Given the description of an element on the screen output the (x, y) to click on. 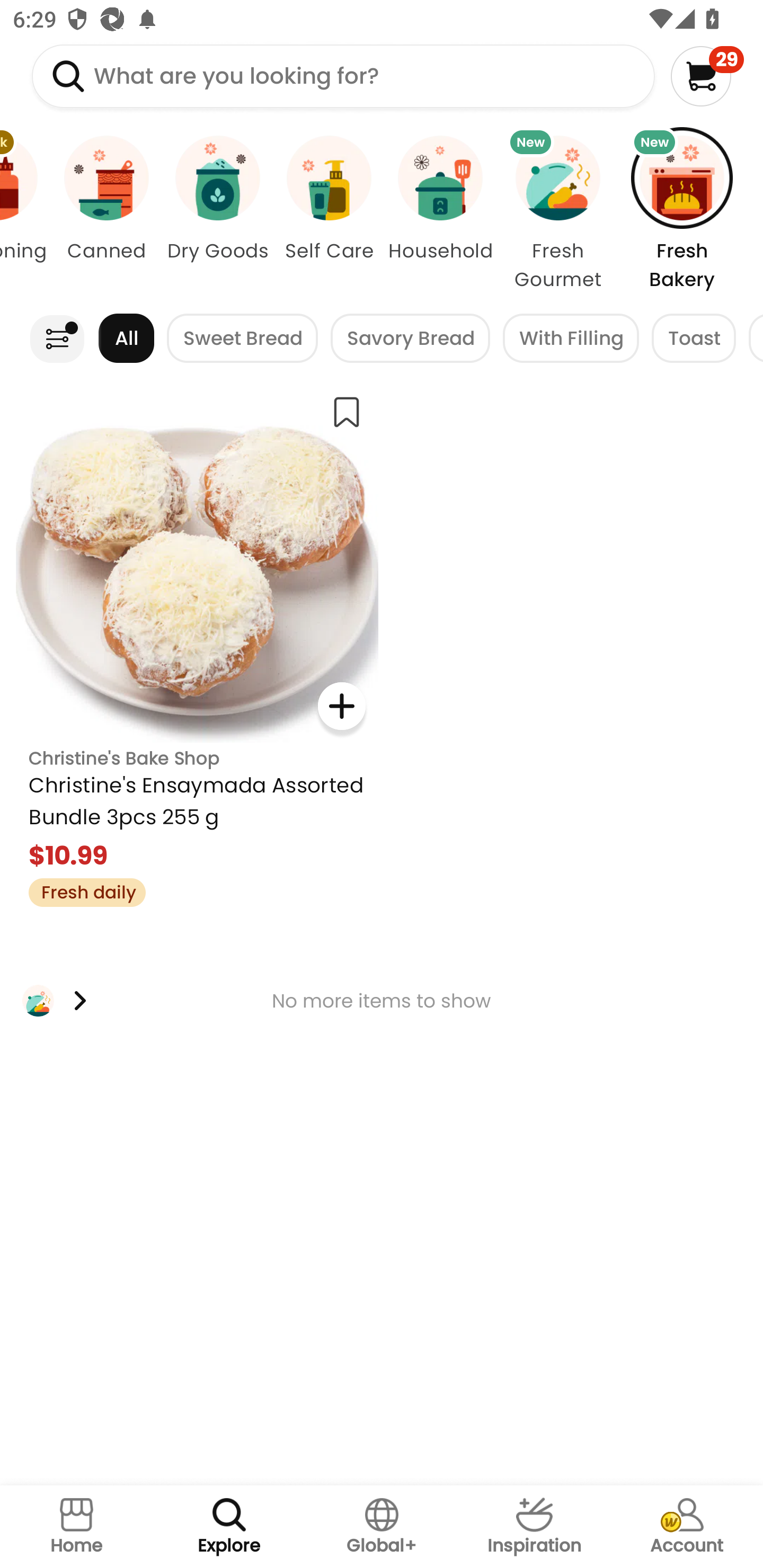
What are you looking for? (343, 75)
29 (706, 75)
Canned (106, 214)
Dry Goods (217, 214)
Self Care (328, 214)
Household (439, 214)
New Fresh Gourmet (557, 214)
New Fresh Bakery (691, 214)
All (126, 337)
Sweet Bread (242, 337)
Savory Bread (409, 337)
With Filling (570, 337)
Toast (693, 337)
Home (76, 1526)
Explore (228, 1526)
Global+ (381, 1526)
Inspiration (533, 1526)
Account (686, 1526)
